Given the description of an element on the screen output the (x, y) to click on. 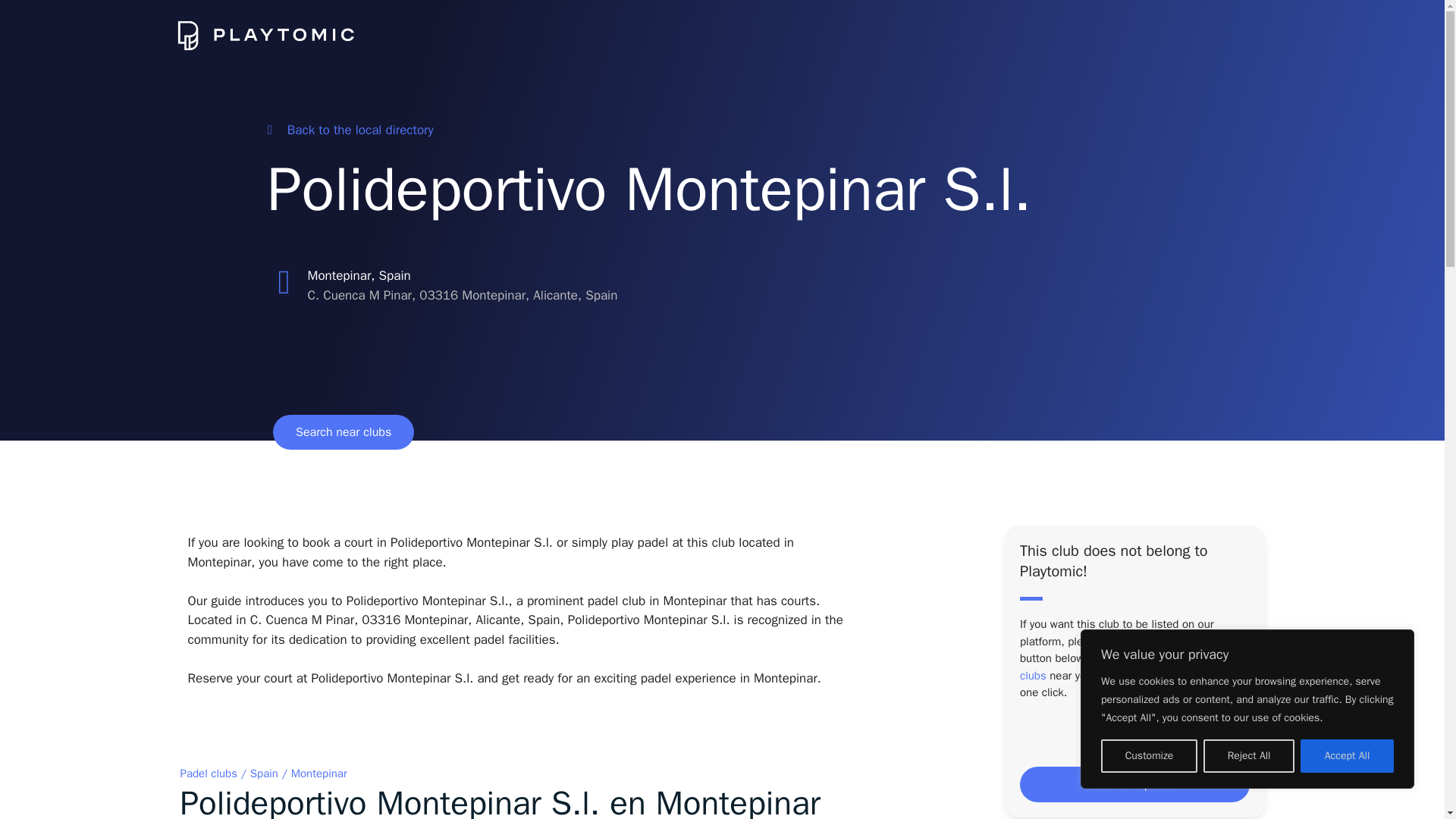
Send request (1134, 784)
search for other clubs (1128, 666)
Customize (1148, 756)
Montepinar (319, 773)
Search near clubs (343, 431)
Reject All (1249, 756)
Accept All (1346, 756)
Spain (264, 773)
Padel clubs (208, 773)
Back to the local directory (349, 130)
